Given the description of an element on the screen output the (x, y) to click on. 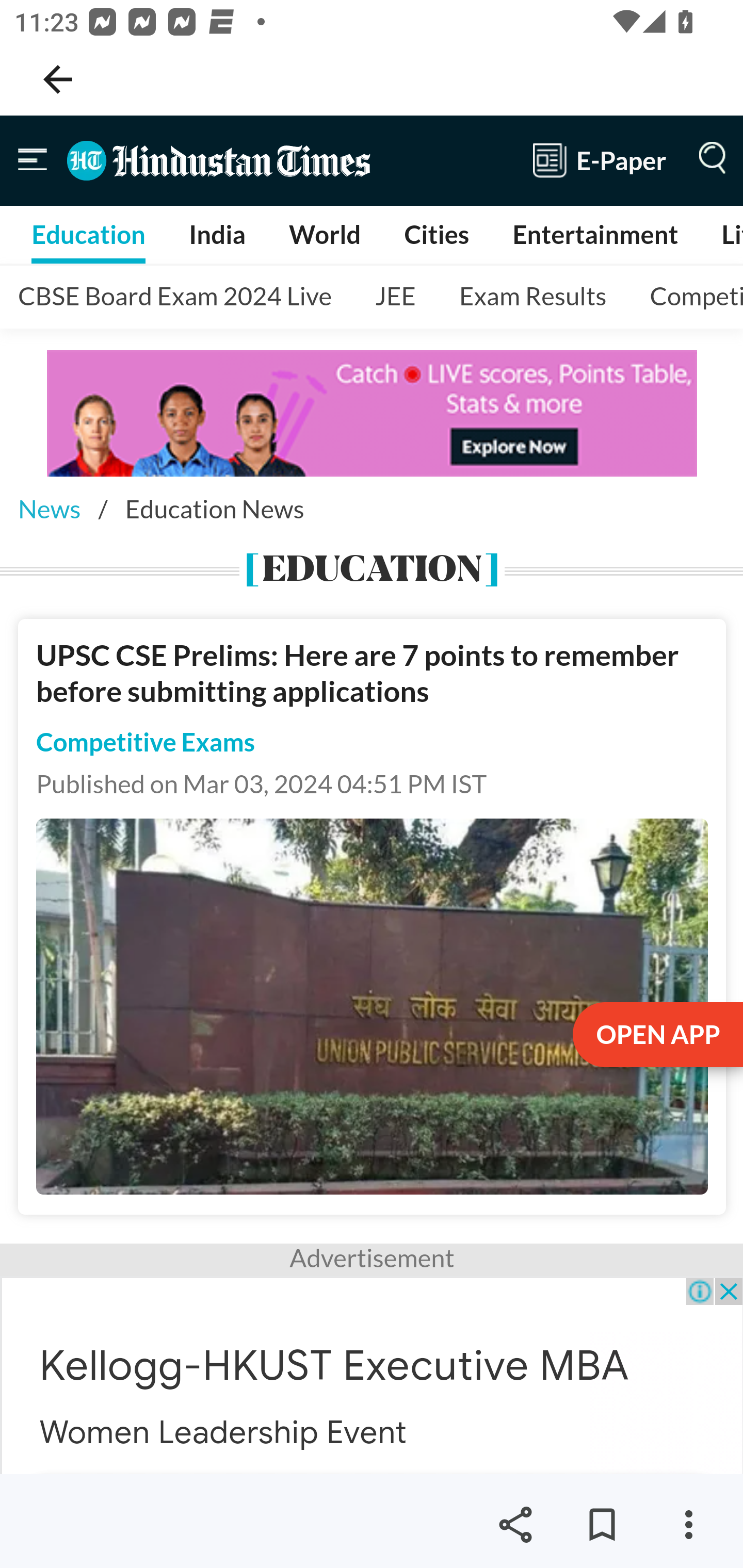
Navigate up (57, 79)
Menu Menu Menu Menu (708, 159)
E-Paper E-Paper E-Paper E-Paper E-Paper (599, 160)
Menu Menu (32, 160)
Education (88, 233)
India (217, 233)
World (325, 233)
Cities (435, 233)
Entertainment (595, 233)
CBSE Board Exam 2024 Live (175, 297)
JEE (394, 297)
Exam Results (533, 297)
News (48, 508)
Competitive Exams (146, 741)
OPEN APP (656, 1035)
Share (514, 1524)
Save for later (601, 1524)
More options (688, 1524)
